Given the description of an element on the screen output the (x, y) to click on. 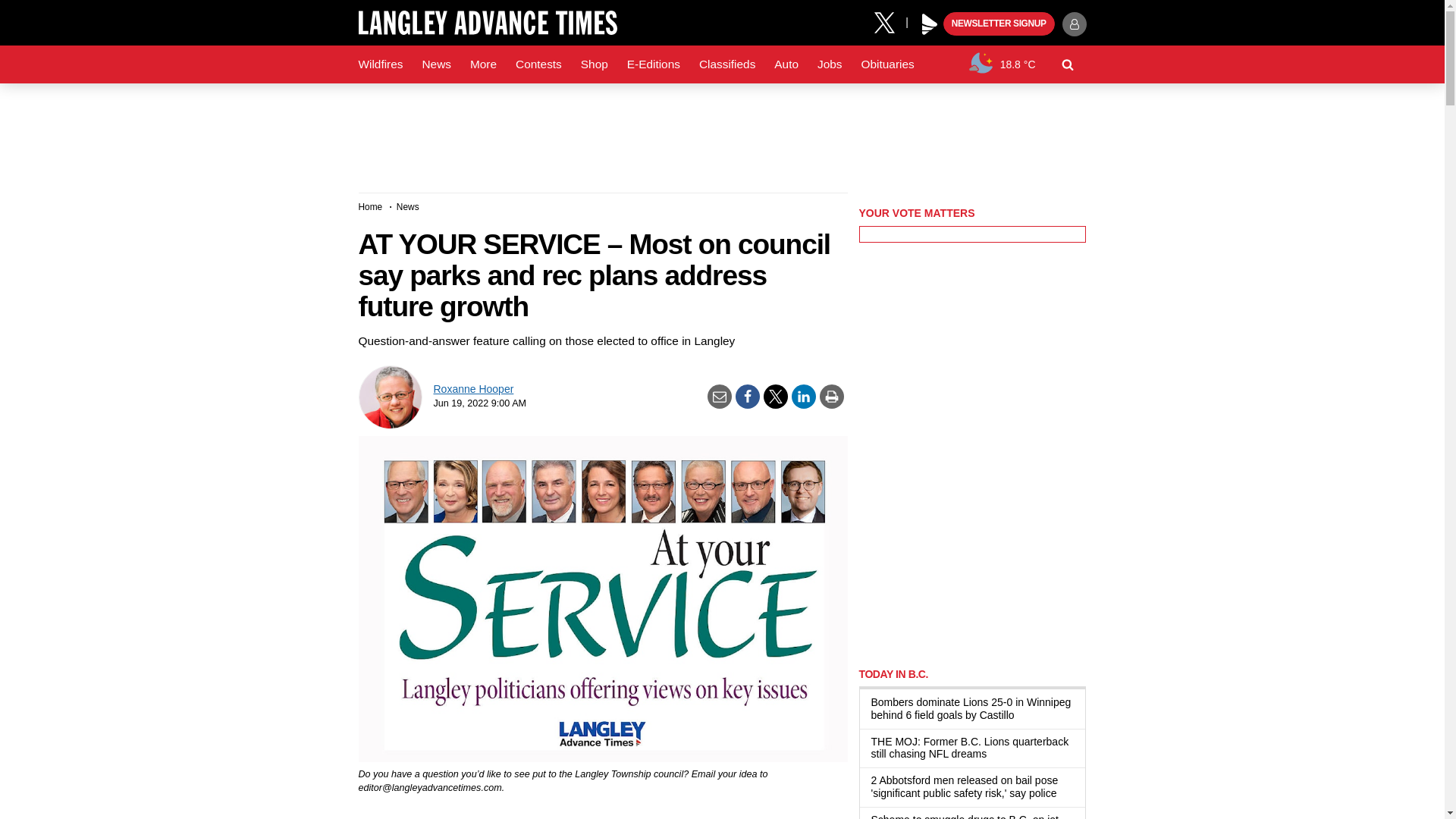
Play (929, 24)
News (435, 64)
NEWSLETTER SIGNUP (998, 24)
Black Press Media (929, 24)
X (889, 21)
Wildfires (380, 64)
